Given the description of an element on the screen output the (x, y) to click on. 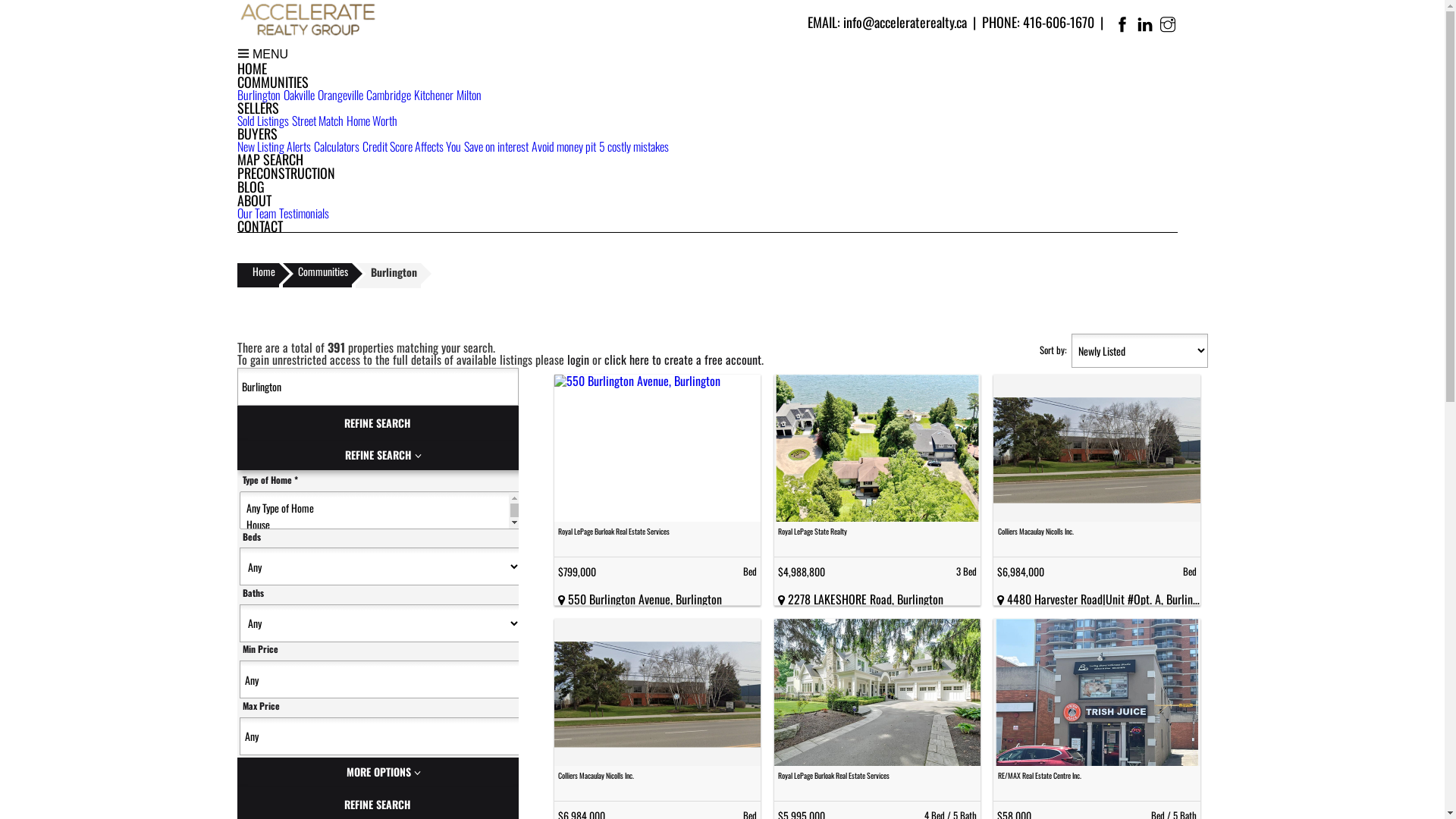
MAP SEARCH Element type: text (269, 159)
ABOUT Element type: text (253, 200)
Credit Score Affects You Element type: text (411, 146)
PHONE: 416-606-1670 Element type: text (1037, 21)
Home Worth Element type: text (370, 120)
REFINE SEARCH Element type: text (382, 455)
BUYERS Element type: text (256, 133)
Our Team Element type: text (255, 212)
Burlington Element type: hover (1096, 447)
Burlington Element type: hover (657, 691)
Kitchener Element type: text (433, 94)
Street Match Element type: text (316, 120)
CONTACT Element type: text (259, 225)
Testimonials Element type: text (304, 212)
PRECONSTRUCTION Element type: text (285, 172)
EMAIL: info@acceleraterealty.ca Element type: text (886, 21)
Burlington Element type: hover (877, 447)
Milton Element type: text (468, 94)
Oakville Element type: text (298, 94)
REFINE SEARCH Element type: text (376, 422)
Calculators Element type: text (336, 146)
Communities Element type: text (316, 275)
Orangeville Element type: text (339, 94)
Burlington Element type: text (257, 94)
COMMUNITIES Element type: text (271, 81)
MENU Element type: text (262, 54)
New Listing Alerts Element type: text (273, 146)
5 costly mistakes Element type: text (633, 146)
Cambridge Element type: text (387, 94)
Burlington Element type: hover (1096, 691)
Burlington Element type: hover (657, 447)
Avoid money pit Element type: text (562, 146)
MORE OPTIONS Element type: text (382, 772)
HOME Element type: text (251, 68)
SELLERS Element type: text (257, 107)
login Element type: text (578, 359)
Save on interest Element type: text (496, 146)
BLOG Element type: text (249, 186)
Burlington Element type: hover (877, 691)
Sold Listings Element type: text (262, 120)
click here to create a free account Element type: text (681, 359)
Home Element type: text (257, 275)
